Given the description of an element on the screen output the (x, y) to click on. 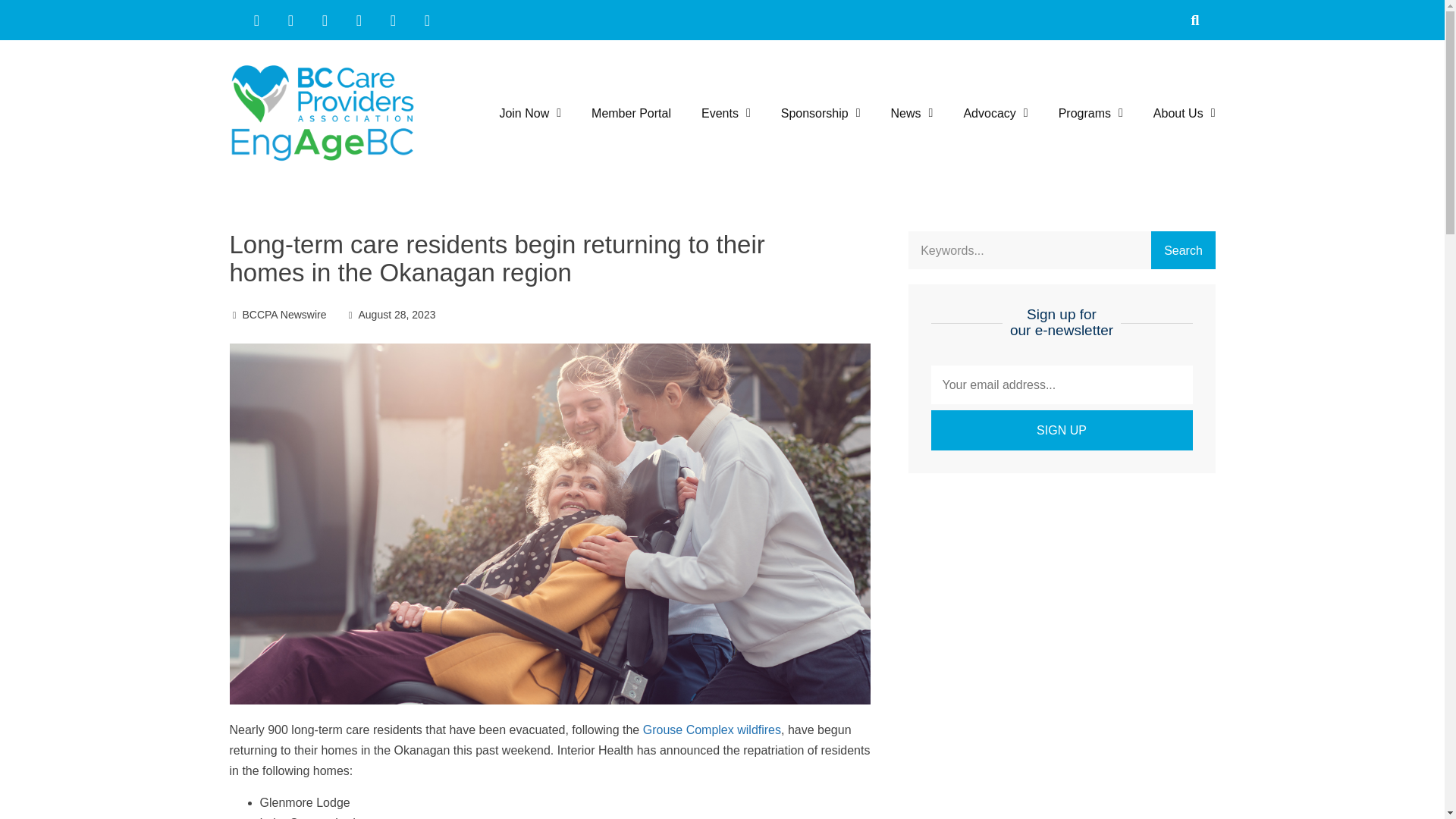
Advocacy (994, 113)
Join Now (529, 113)
Member Portal (631, 113)
Events (726, 113)
News (912, 113)
Sponsorship (820, 113)
